Given the description of an element on the screen output the (x, y) to click on. 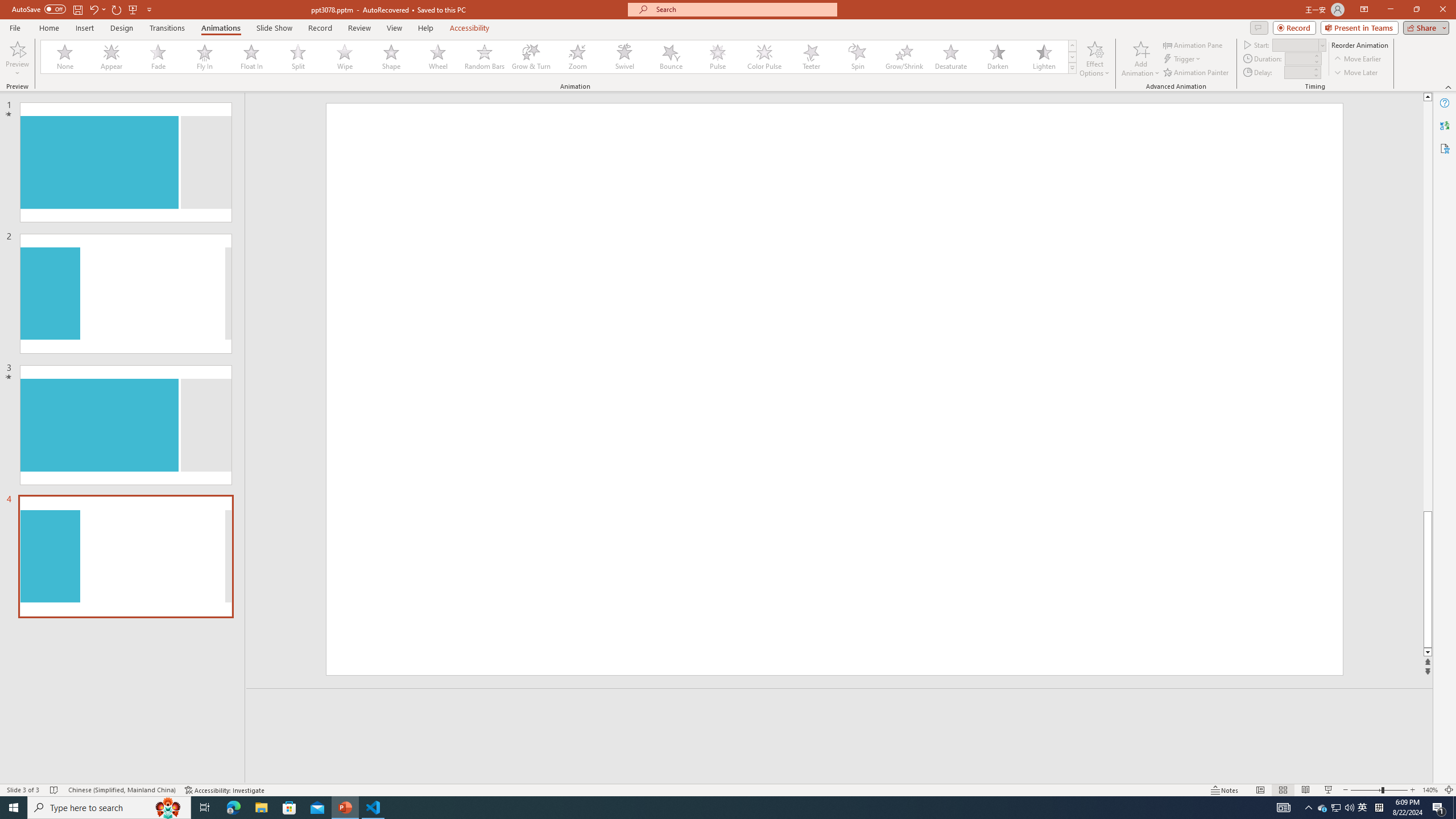
Animation Styles (1071, 67)
Bounce (670, 56)
Float In (251, 56)
Teeter (810, 56)
Preview (17, 48)
